Given the description of an element on the screen output the (x, y) to click on. 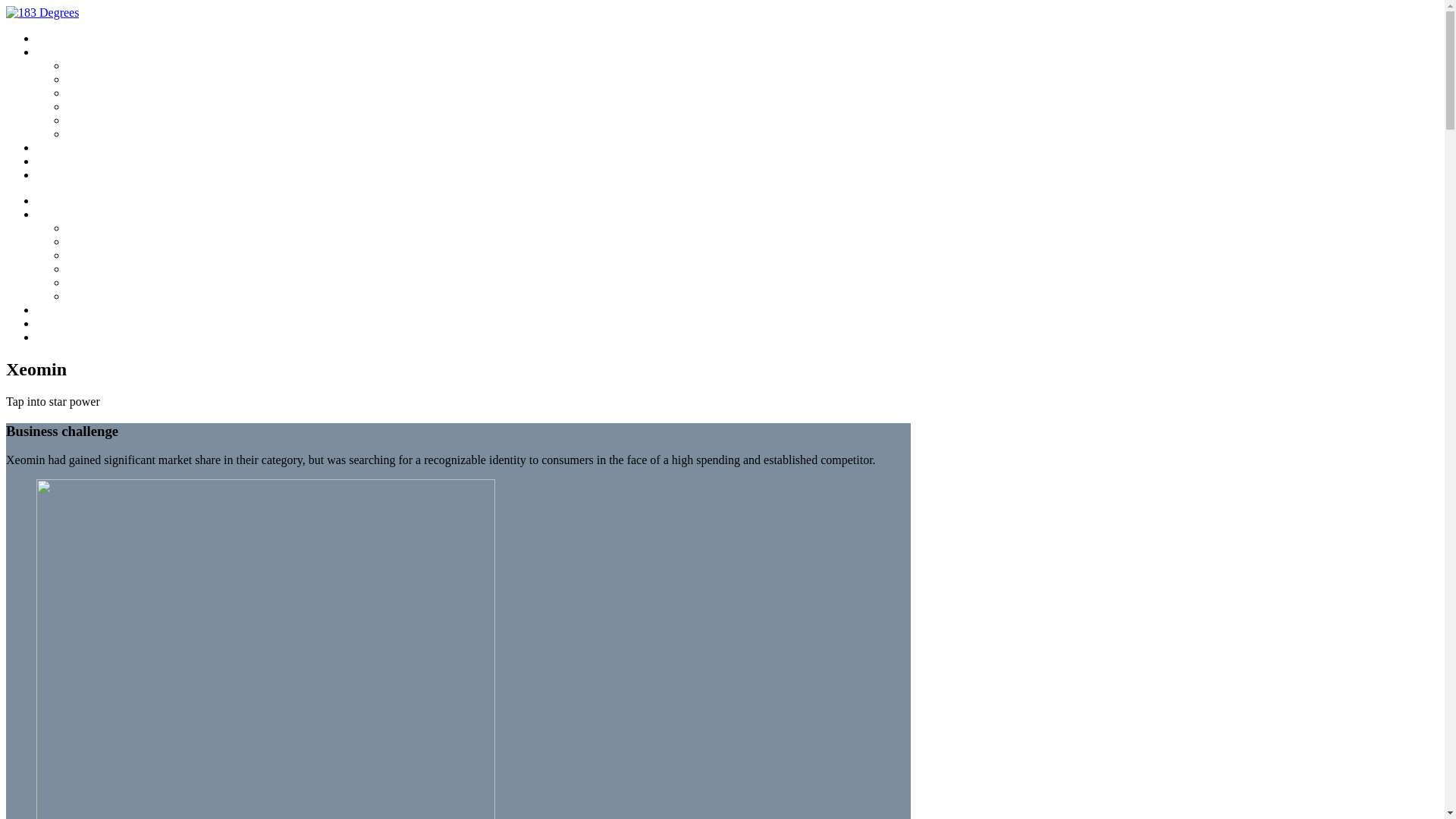
Why 183 Element type: text (57, 200)
Contact Element type: text (54, 161)
Featured Projects Element type: text (76, 52)
Contact Element type: text (54, 323)
Hill Physicians Element type: text (100, 79)
FreeStyle Comfort Element type: text (108, 269)
Ideas Element type: text (48, 175)
Clear + Brilliant Element type: text (103, 93)
FreeStyle Comfort Element type: text (108, 106)
Radiesse Element type: text (86, 120)
Clear + Brilliant Element type: text (103, 255)
Thermage FLX Element type: text (101, 228)
Thermage FLX Element type: text (101, 65)
Xeomin Element type: text (84, 296)
Xeomin Element type: text (84, 134)
Hill Physicians Element type: text (100, 241)
Why 183 Element type: text (57, 38)
Radiesse Element type: text (86, 282)
More Projects Element type: text (68, 310)
183 Degrees Element type: hover (42, 12)
Featured Projects Element type: text (76, 214)
Ideas Element type: text (48, 337)
More Projects Element type: text (68, 147)
